Given the description of an element on the screen output the (x, y) to click on. 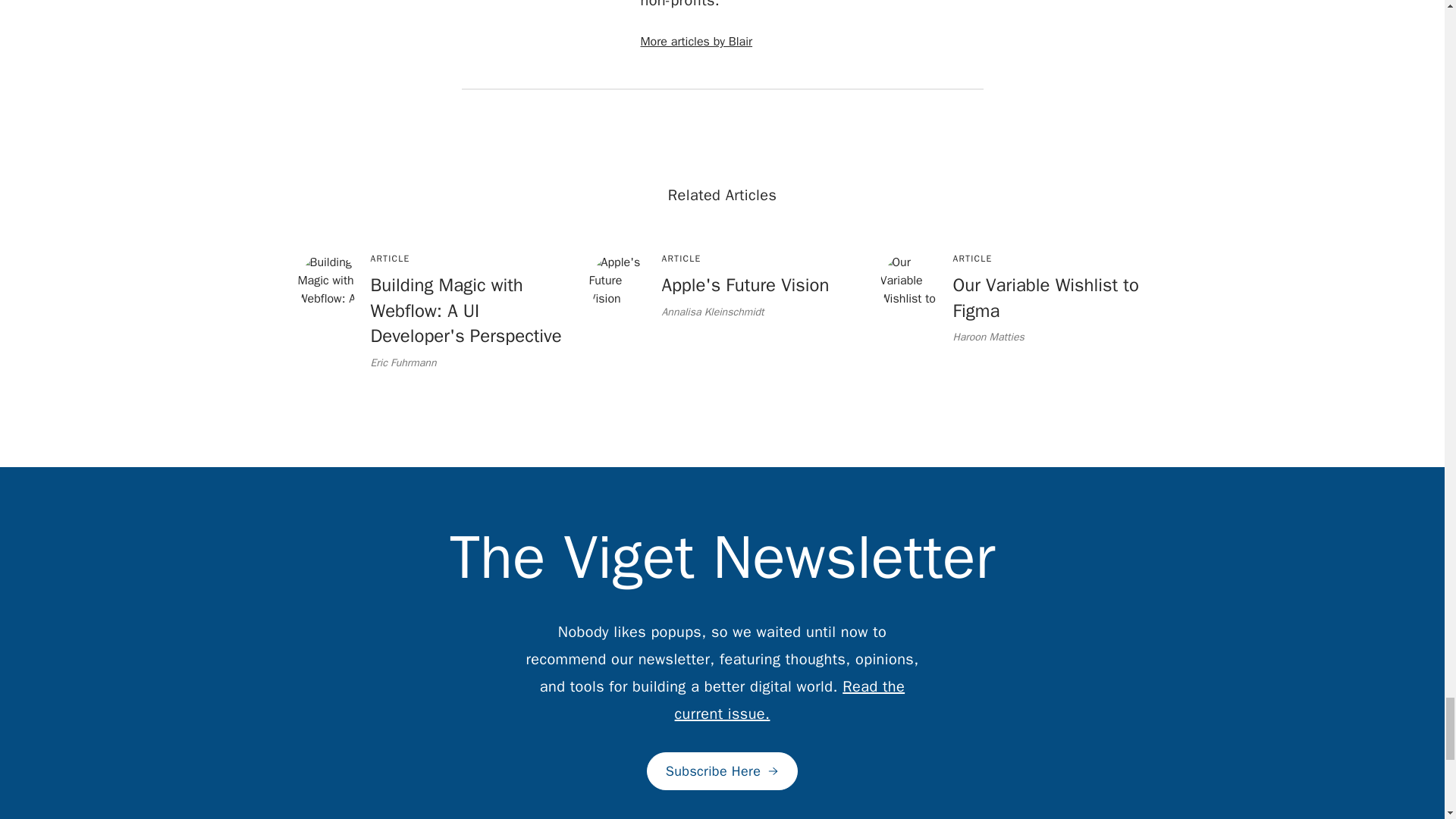
Read the current issue. (790, 700)
More articles by Blair (708, 286)
